Given the description of an element on the screen output the (x, y) to click on. 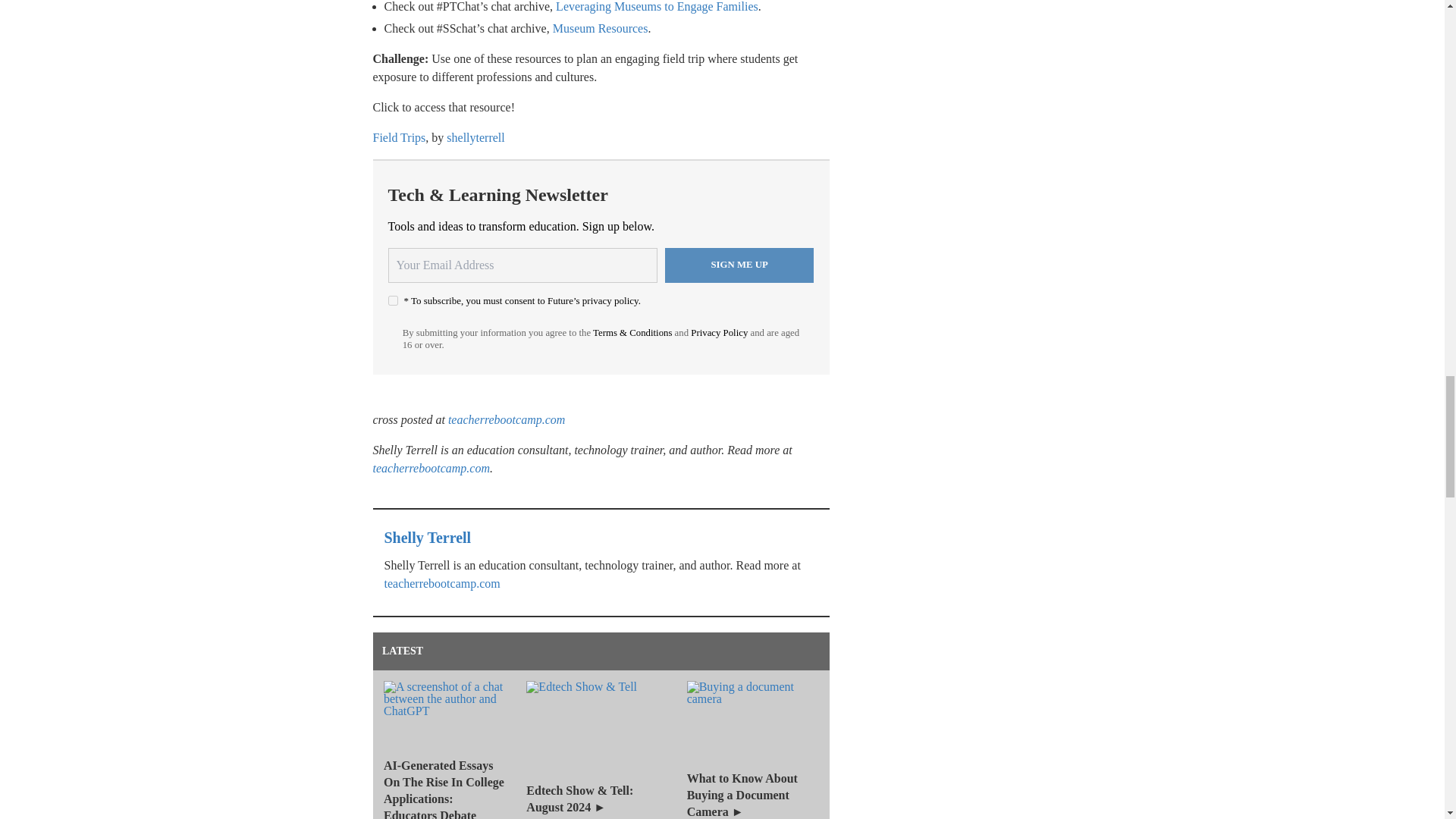
Sign me up (739, 265)
on (392, 300)
